Given the description of an element on the screen output the (x, y) to click on. 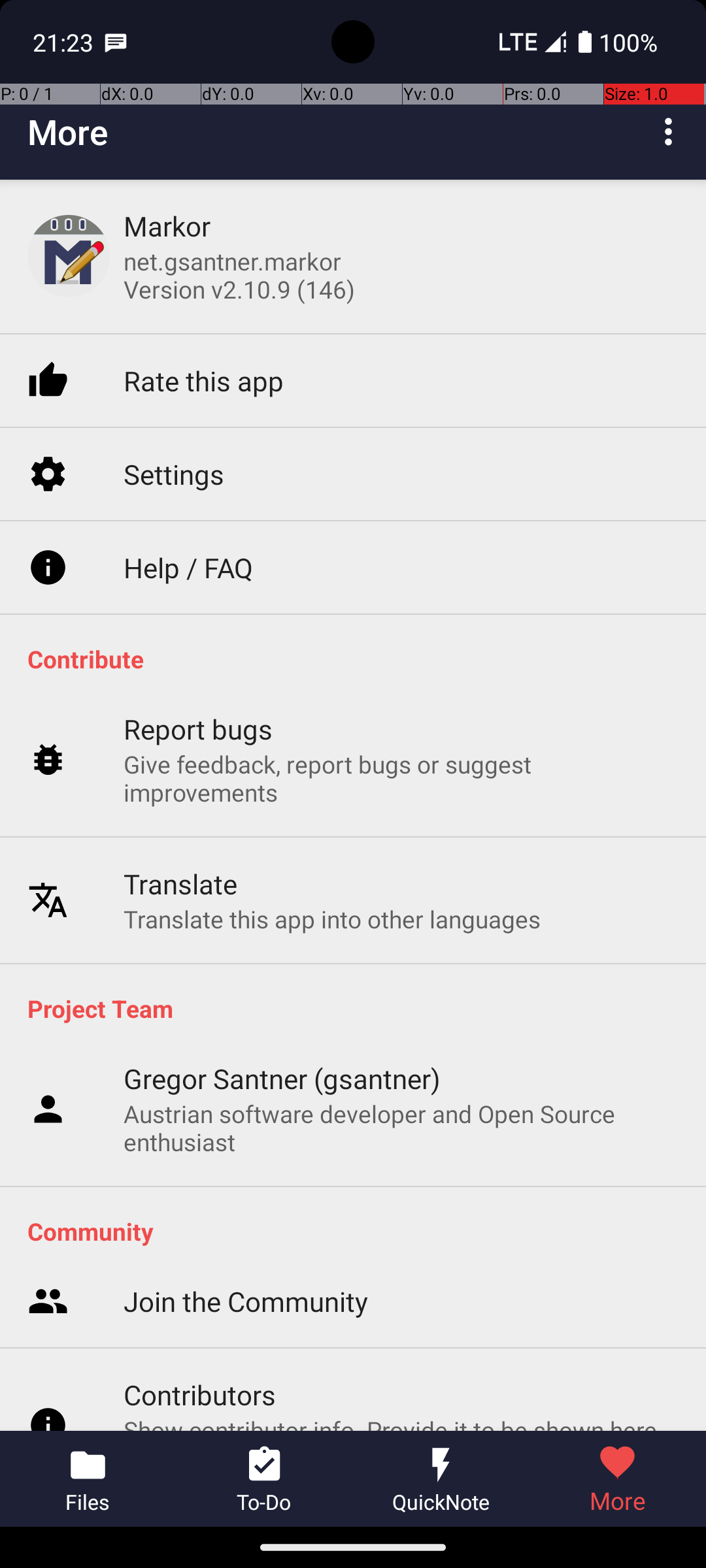
21:23 Element type: android.widget.TextView (64, 41)
